Given the description of an element on the screen output the (x, y) to click on. 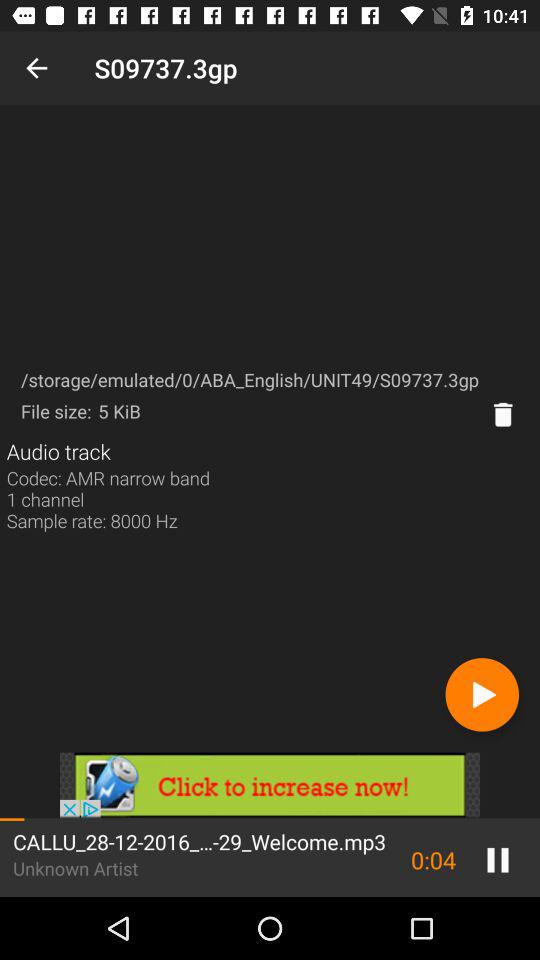
go to next (482, 694)
